Given the description of an element on the screen output the (x, y) to click on. 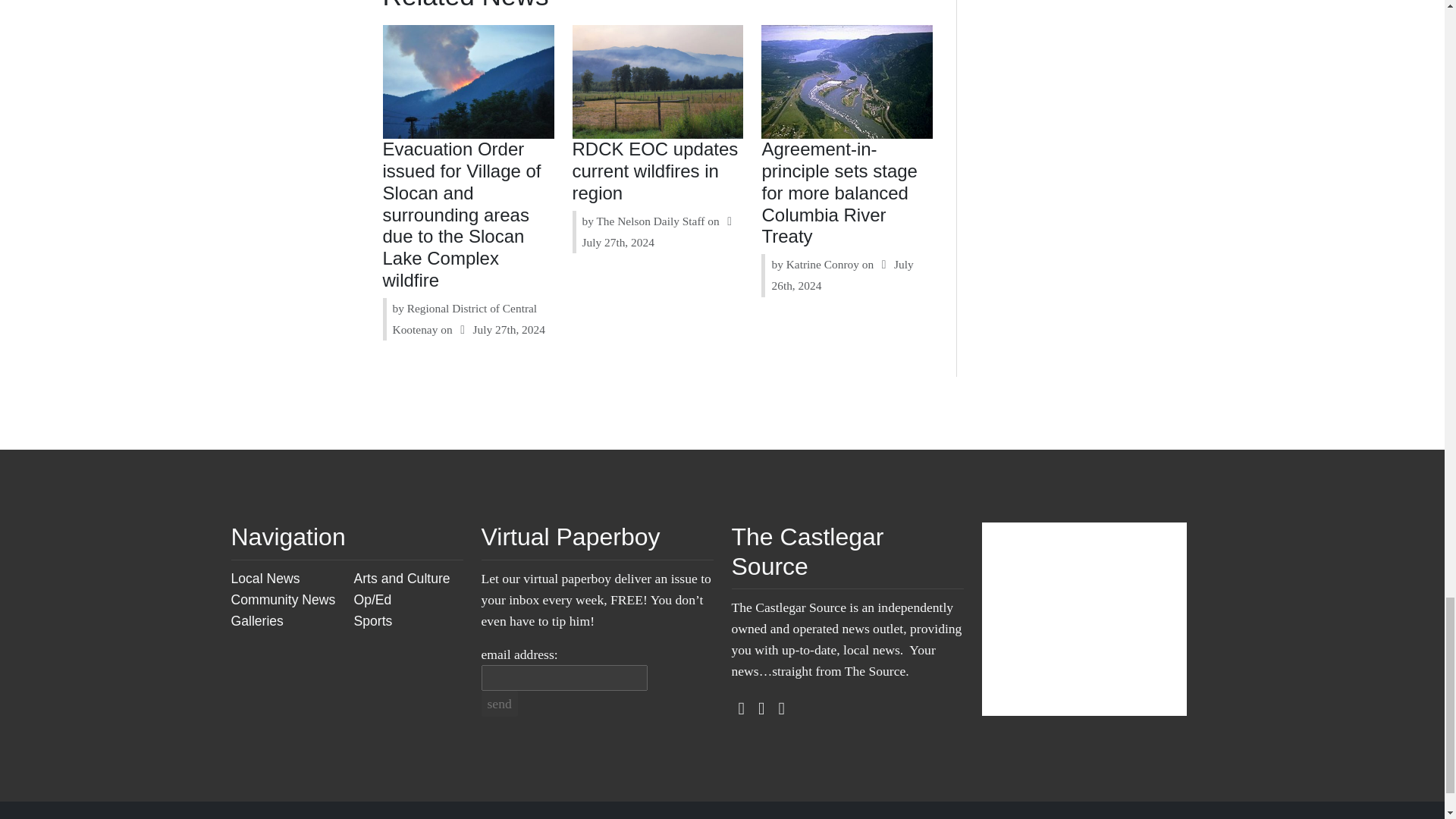
RDCK EOC updates current wildfires in region (655, 170)
send (498, 703)
